Given the description of an element on the screen output the (x, y) to click on. 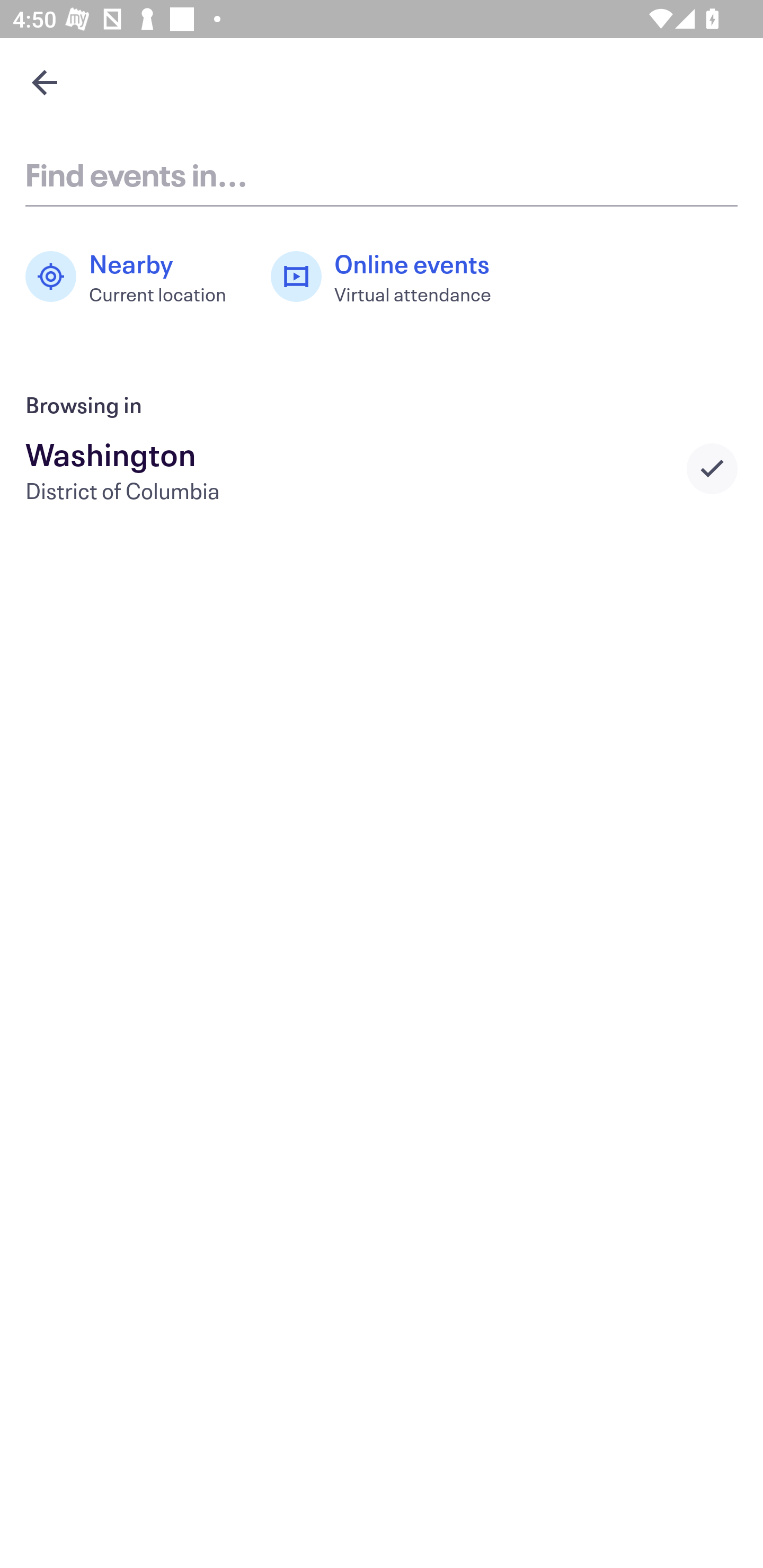
Navigate up (44, 82)
Find events in... (381, 173)
Nearby Current location (135, 276)
Online events Virtual attendance (390, 276)
Washington District of Columbia Selected city (381, 468)
